Given the description of an element on the screen output the (x, y) to click on. 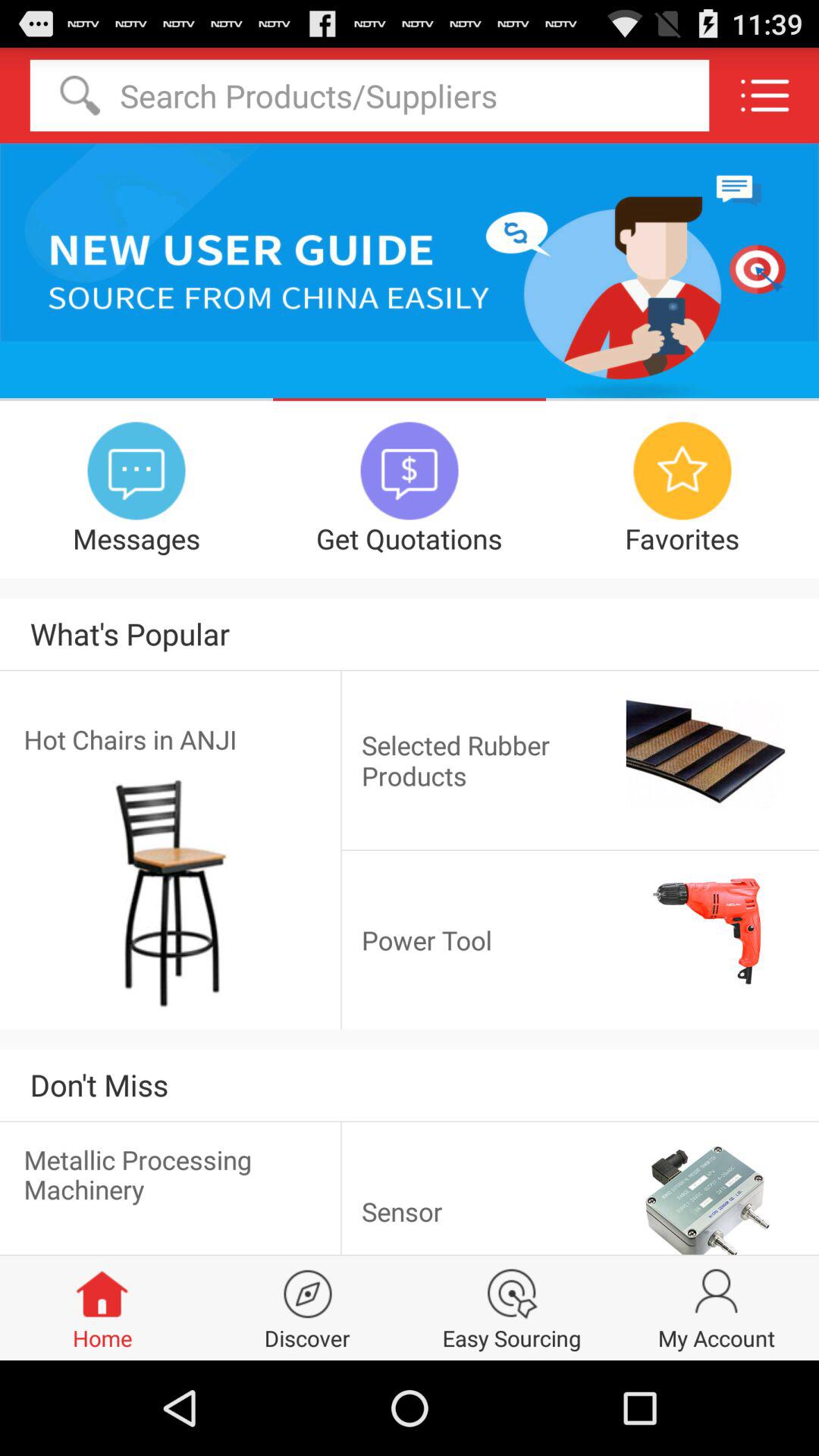
move to image which is right power tool (707, 931)
